Given the description of an element on the screen output the (x, y) to click on. 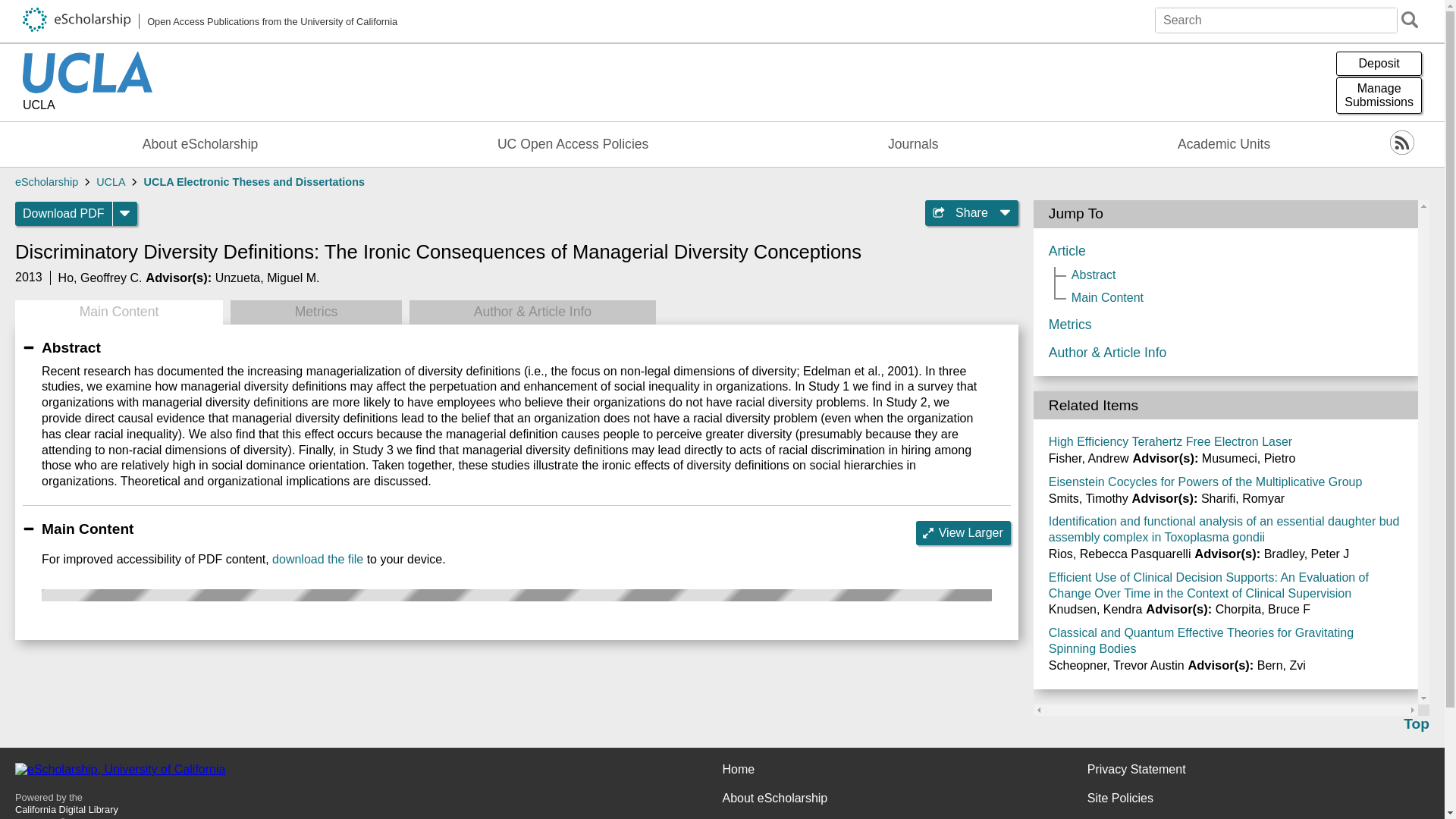
Download PDF (63, 213)
About eScholarship (200, 143)
UC Open Access Policies (572, 143)
Metrics (315, 312)
eScholarship (46, 182)
Main Content (118, 312)
Academic Units (1224, 143)
Open Access Publications from the University of California (210, 21)
UCLA (87, 105)
Deposit (1379, 63)
